Given the description of an element on the screen output the (x, y) to click on. 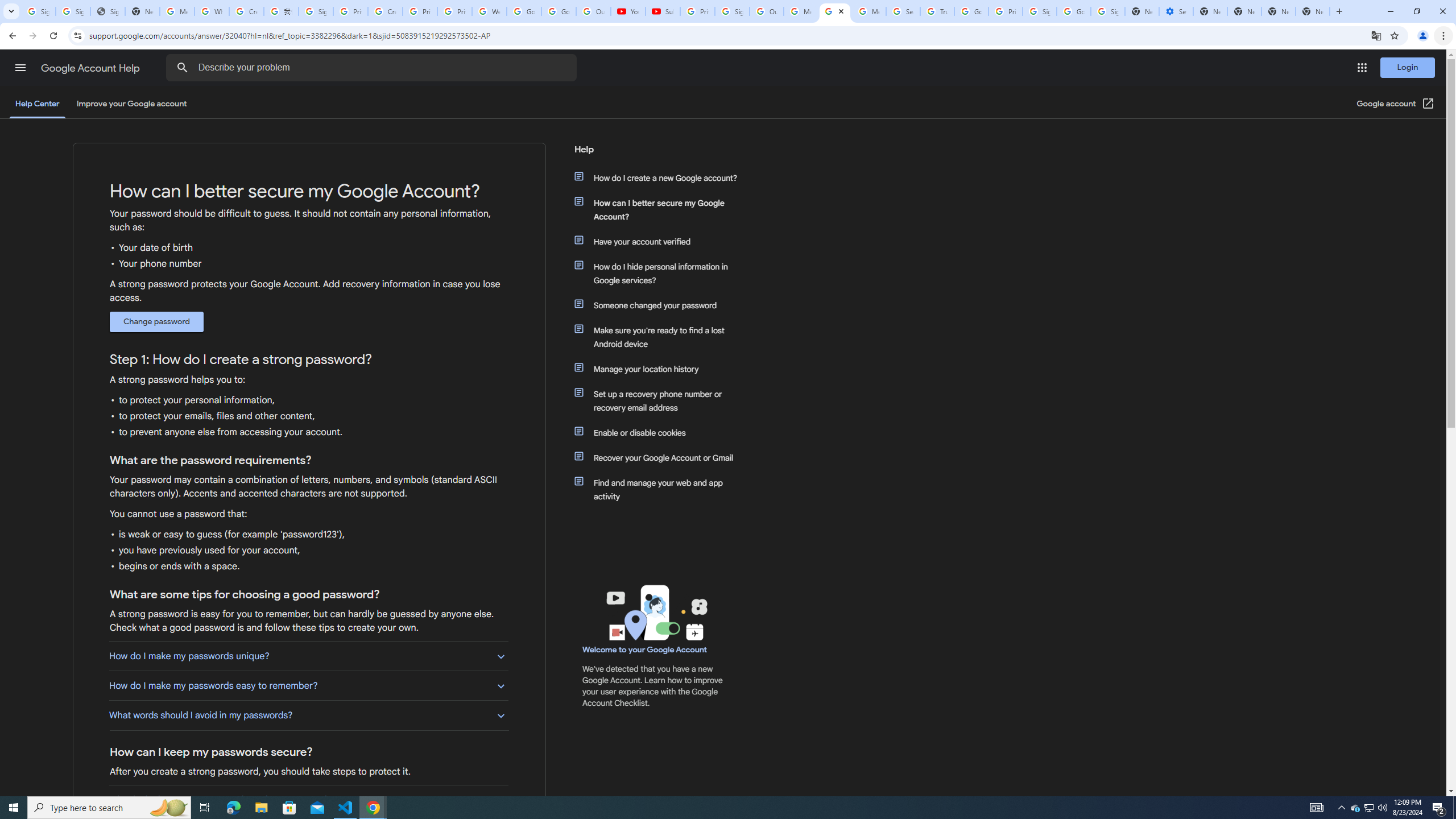
How do I make my passwords easy to remember? (308, 685)
How can I better secure my Google Account? (661, 209)
Find and manage your web and app activity (661, 489)
Sign in - Google Accounts (1039, 11)
Help Center (36, 103)
Google Account (Opens in new window) (1395, 103)
Welcome to your Google Account (644, 649)
What is the best way to store written down passwords? (308, 799)
Improve your Google account (131, 103)
Sign In - USA TODAY (107, 11)
